Given the description of an element on the screen output the (x, y) to click on. 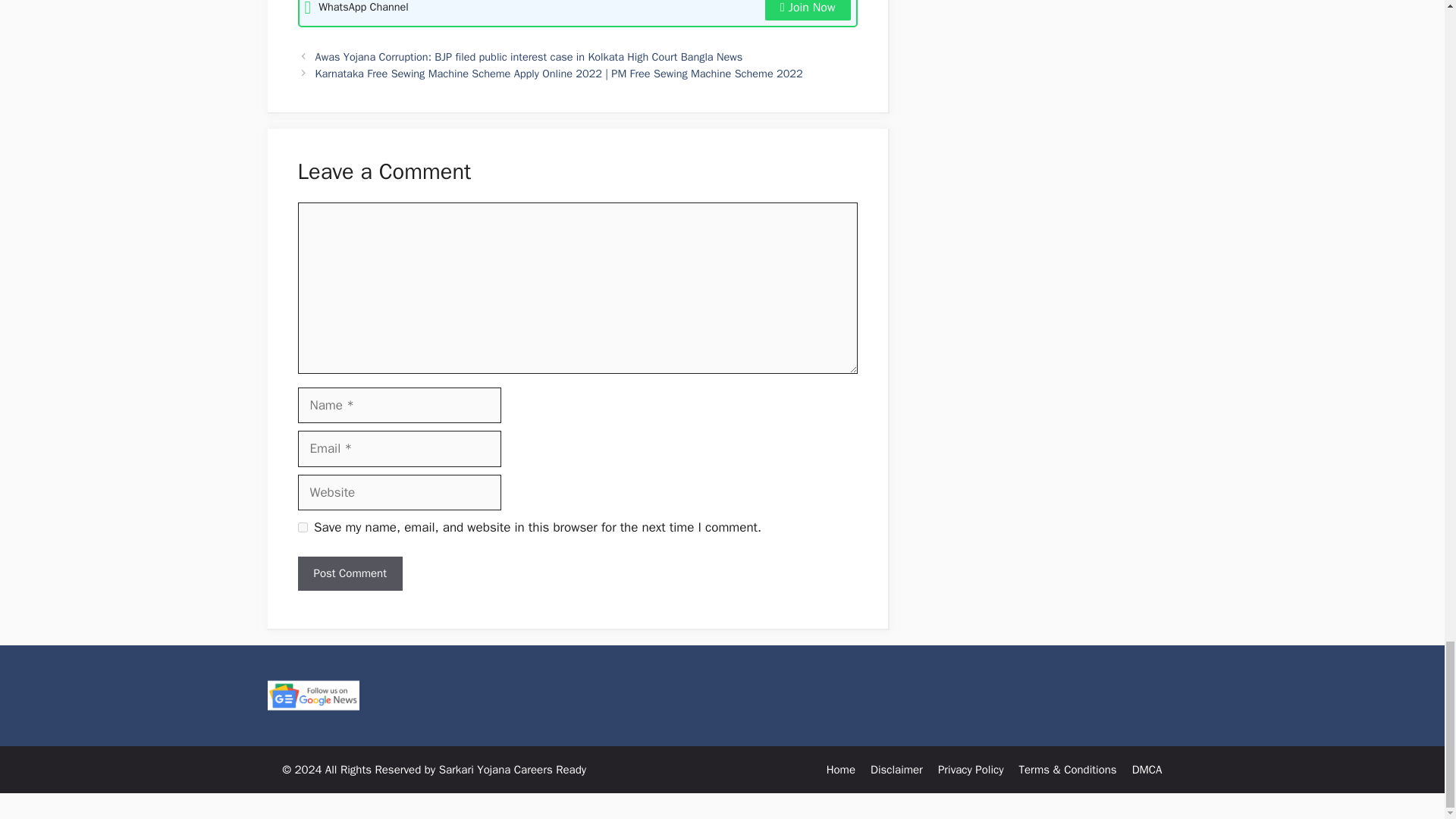
Post Comment (349, 573)
Home (841, 769)
Post Comment (349, 573)
Join Now (807, 10)
yes (302, 527)
Disclaimer (896, 769)
Privacy Policy (970, 769)
